Given the description of an element on the screen output the (x, y) to click on. 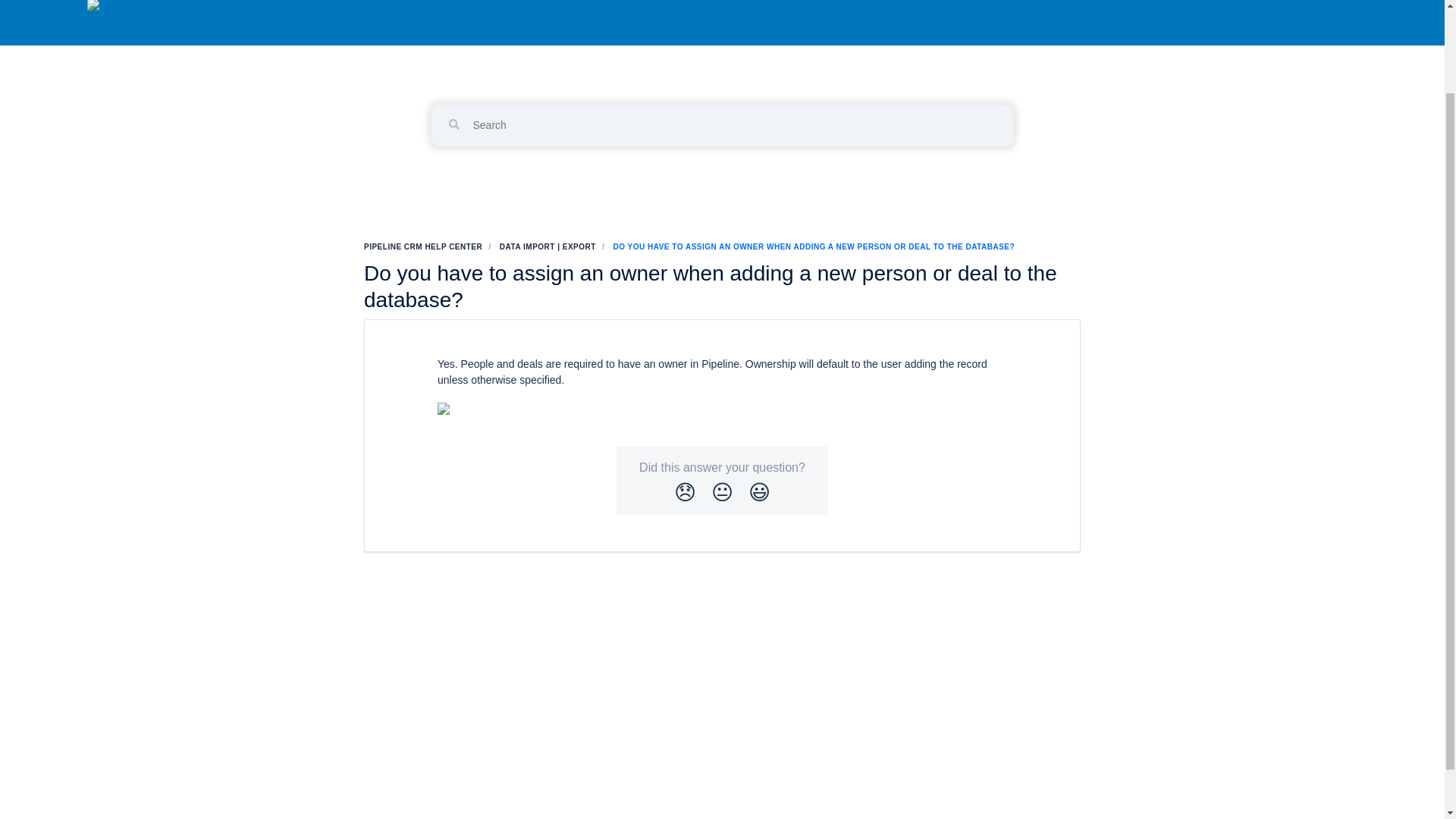
PIPELINE CRM HELP CENTER (422, 246)
Pipeline CRM Help Center (720, 59)
